Given the description of an element on the screen output the (x, y) to click on. 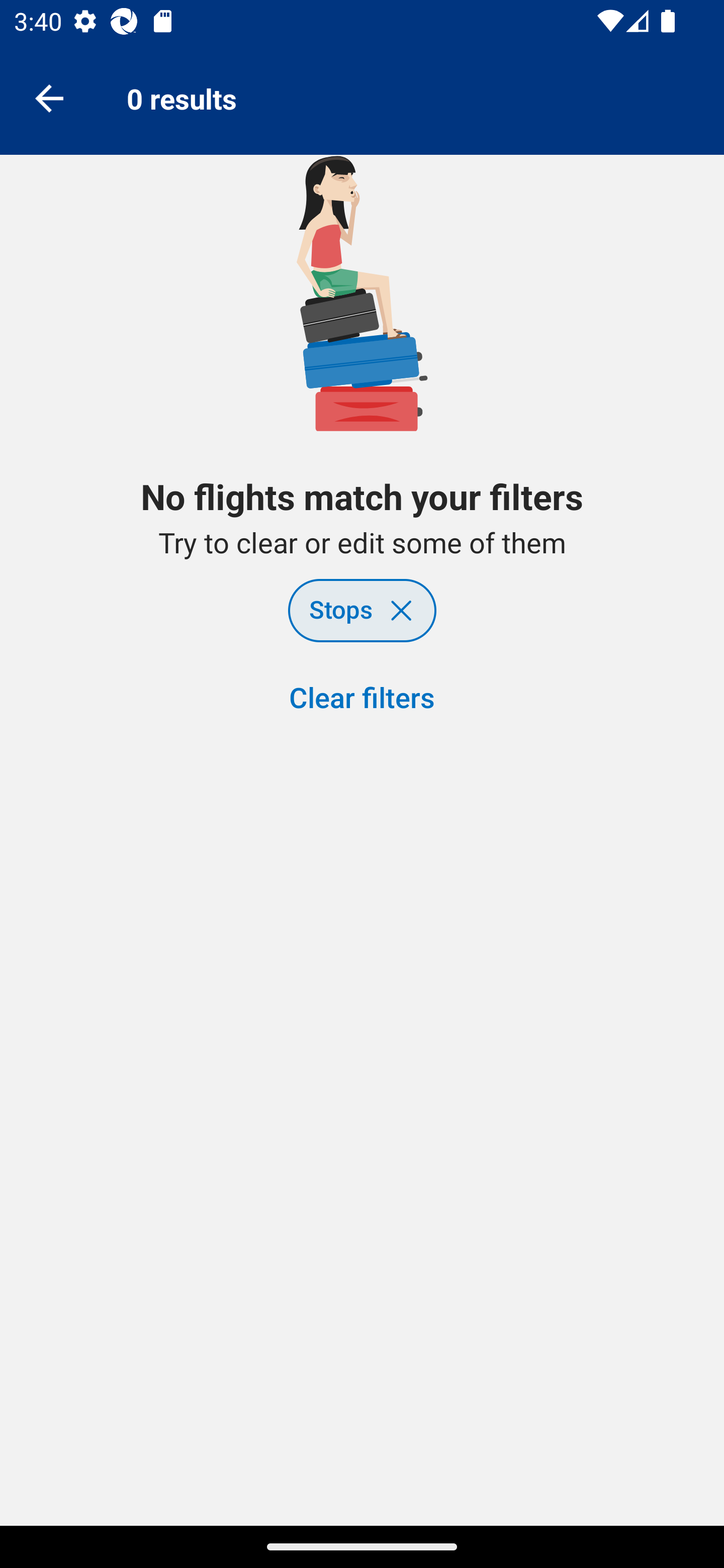
Navigate up (49, 97)
Clear filters (361, 698)
